Given the description of an element on the screen output the (x, y) to click on. 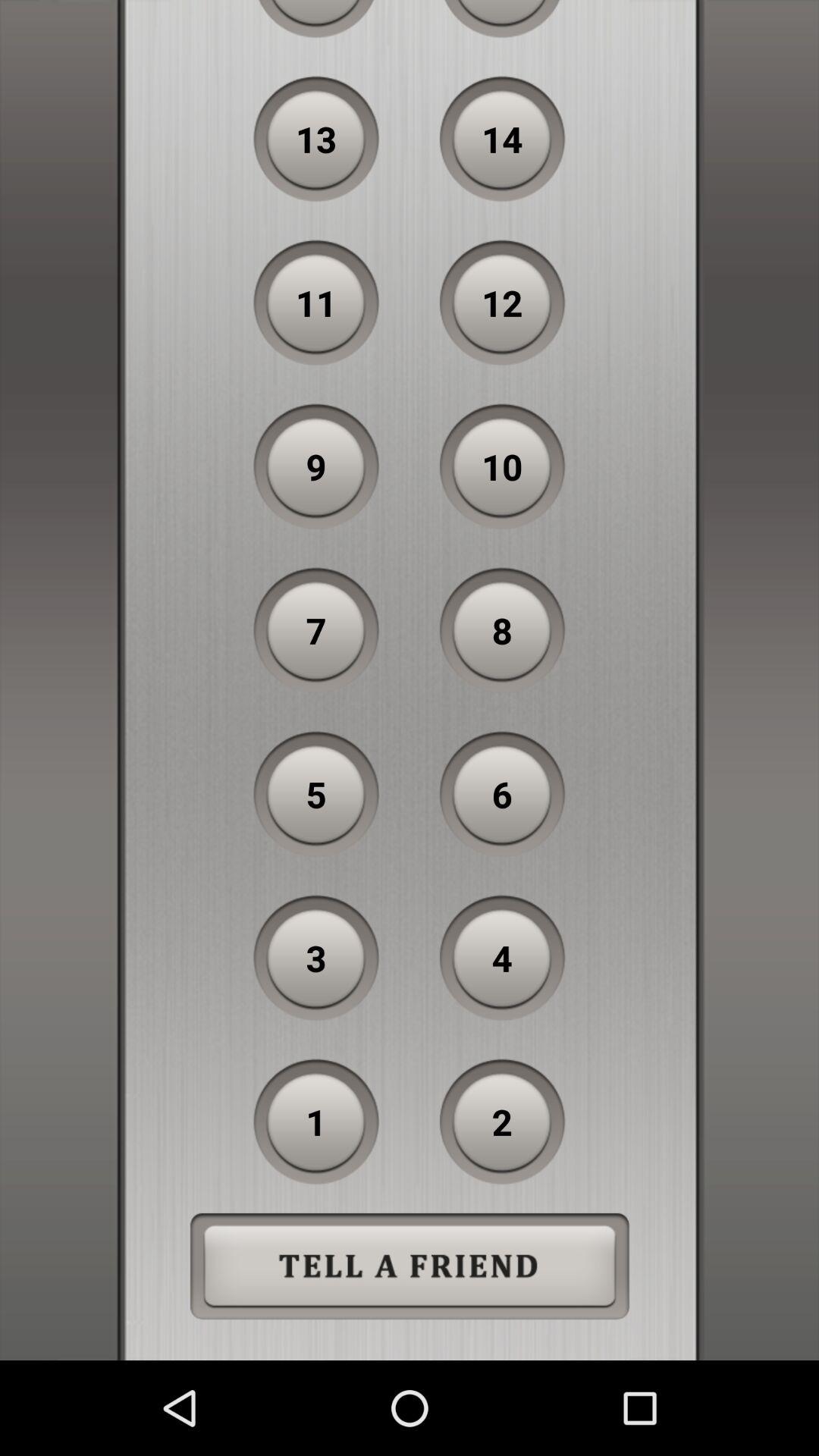
press the item above the 7 item (316, 466)
